Given the description of an element on the screen output the (x, y) to click on. 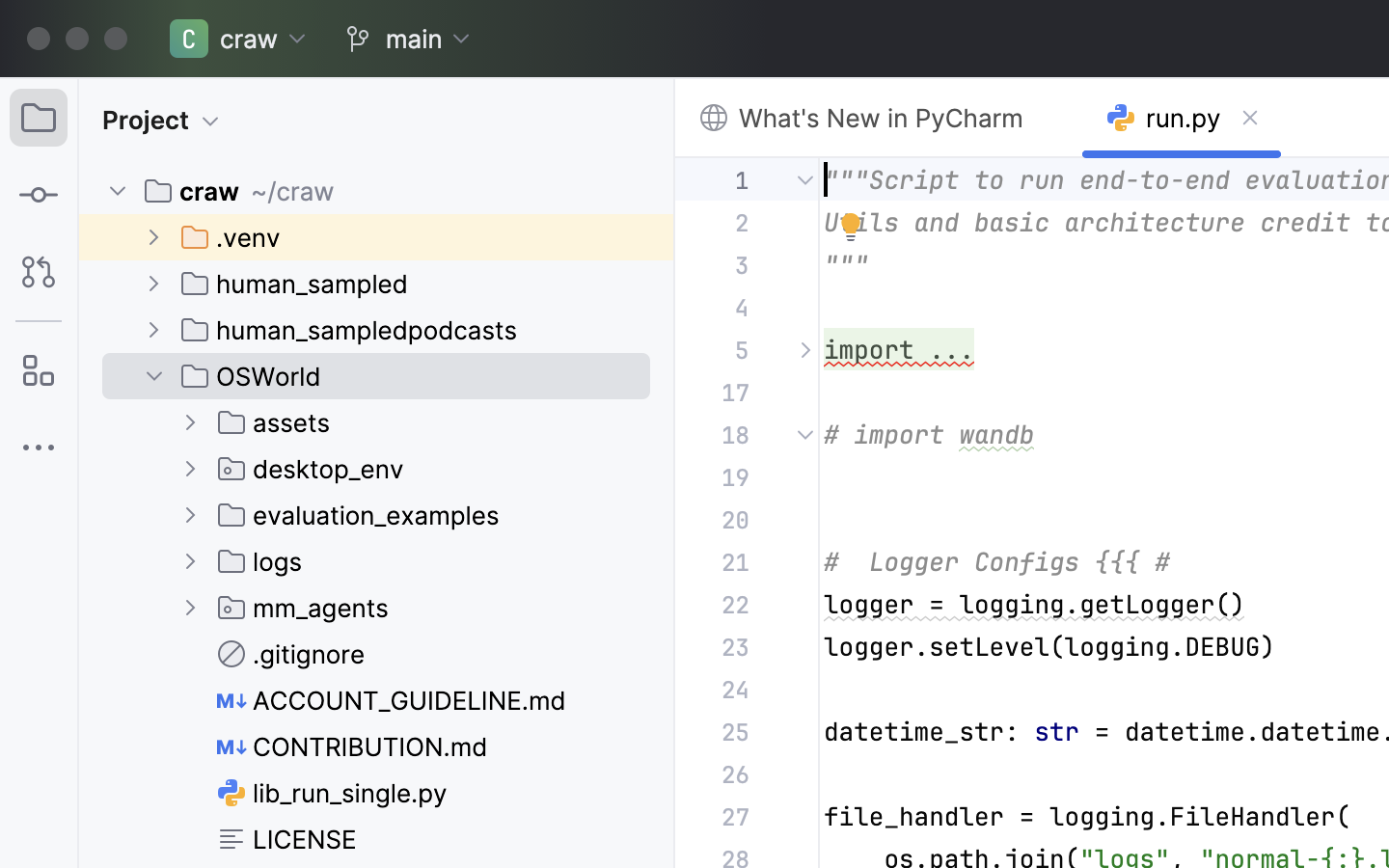
LICENSE Element type: AXStaticText (287, 838)
assets Element type: AXStaticText (274, 422)
.gitignore Element type: AXStaticText (292, 653)
desktop_env Element type: AXStaticText (311, 468)
human_sampledpodcasts Element type: AXStaticText (349, 329)
